Given the description of an element on the screen output the (x, y) to click on. 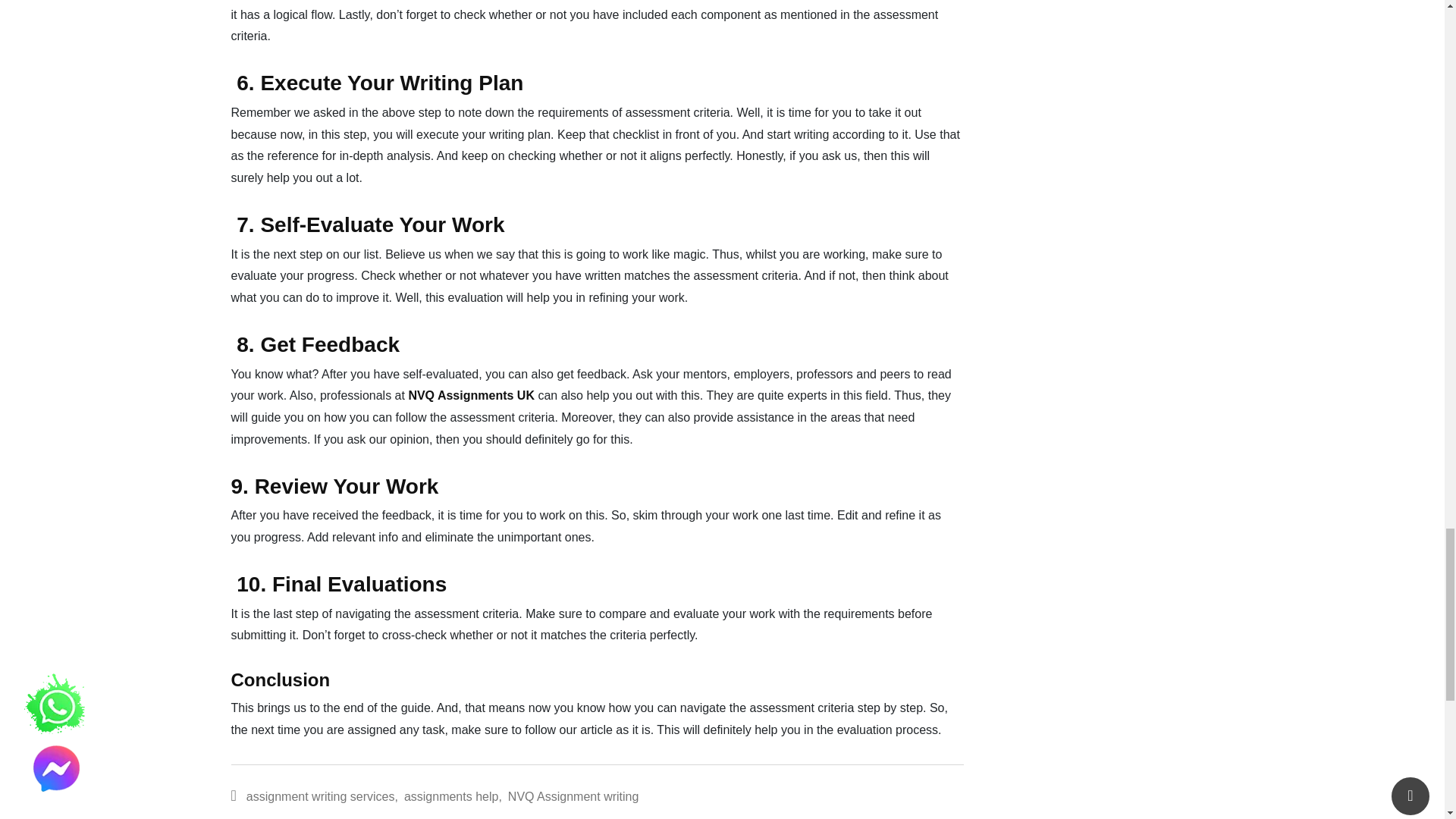
NVQ Assignments UK (470, 395)
